Given the description of an element on the screen output the (x, y) to click on. 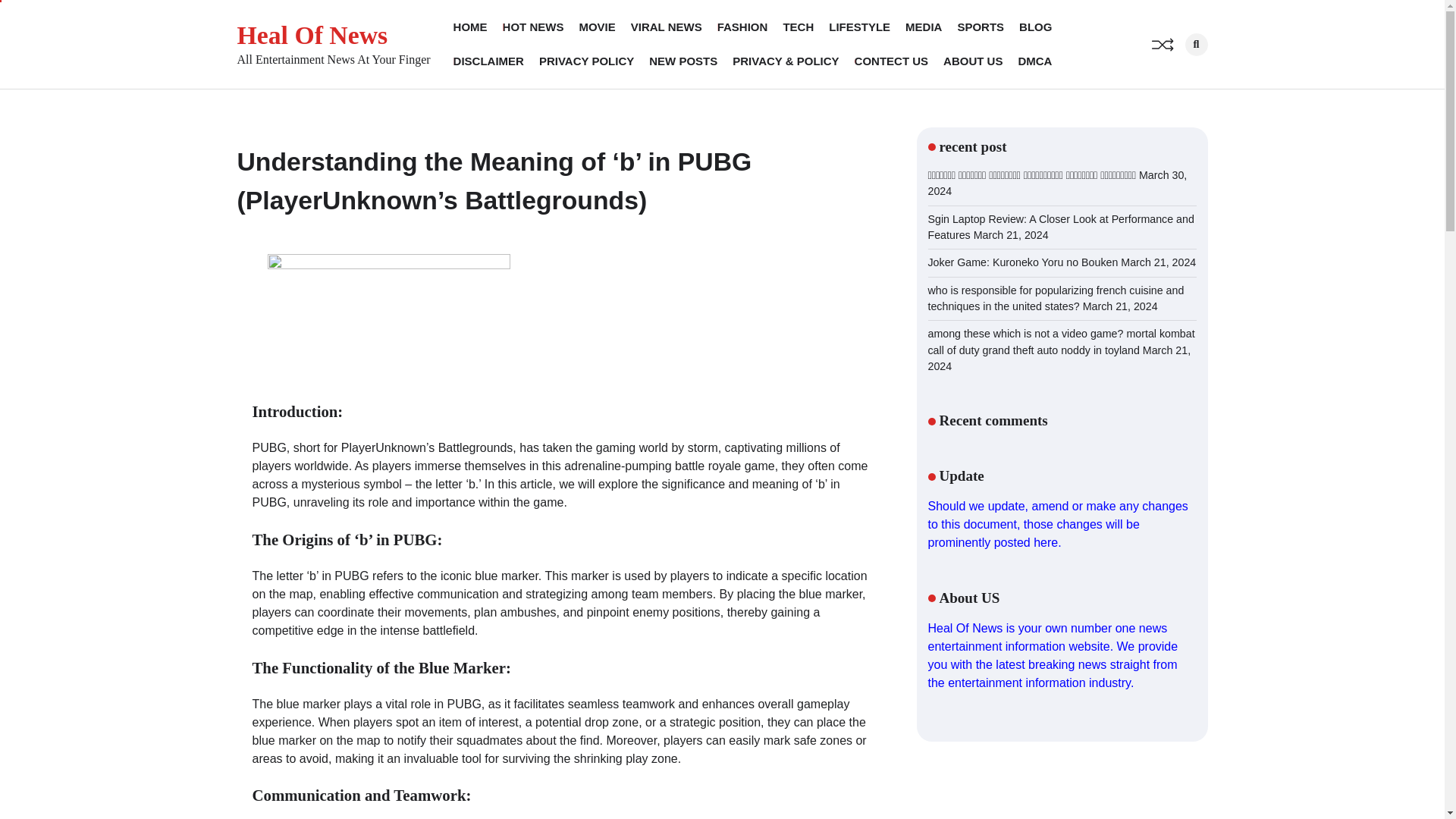
HOME (469, 27)
Search (1196, 44)
TECH (798, 27)
ABOUT US (973, 61)
MOVIE (596, 27)
VIRAL NEWS (665, 27)
LIFESTYLE (858, 27)
HOT NEWS (533, 27)
SPORTS (980, 27)
Search (1170, 76)
FASHION (742, 27)
NEW POSTS (683, 61)
